Given the description of an element on the screen output the (x, y) to click on. 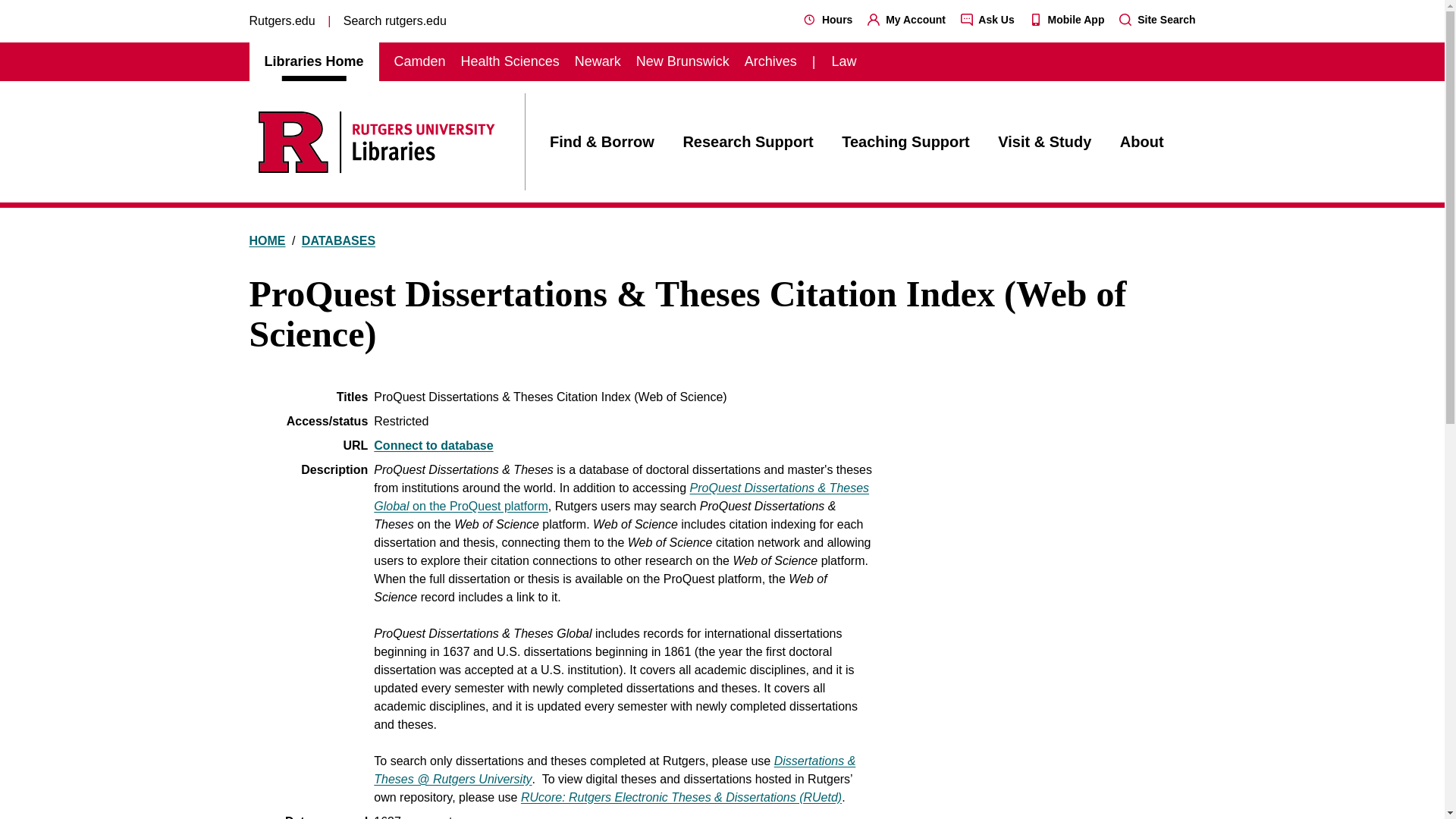
Libraries Home (312, 61)
Teaching Support (905, 141)
DATABASES (338, 240)
Connect to database (433, 445)
My Account (905, 19)
Camden (419, 61)
About (1141, 141)
Health Sciences (510, 61)
New Brunswick (682, 61)
Hours (827, 19)
Site Search (1157, 19)
Archives (770, 61)
Law (843, 61)
Rutgers.edu (281, 20)
